Given the description of an element on the screen output the (x, y) to click on. 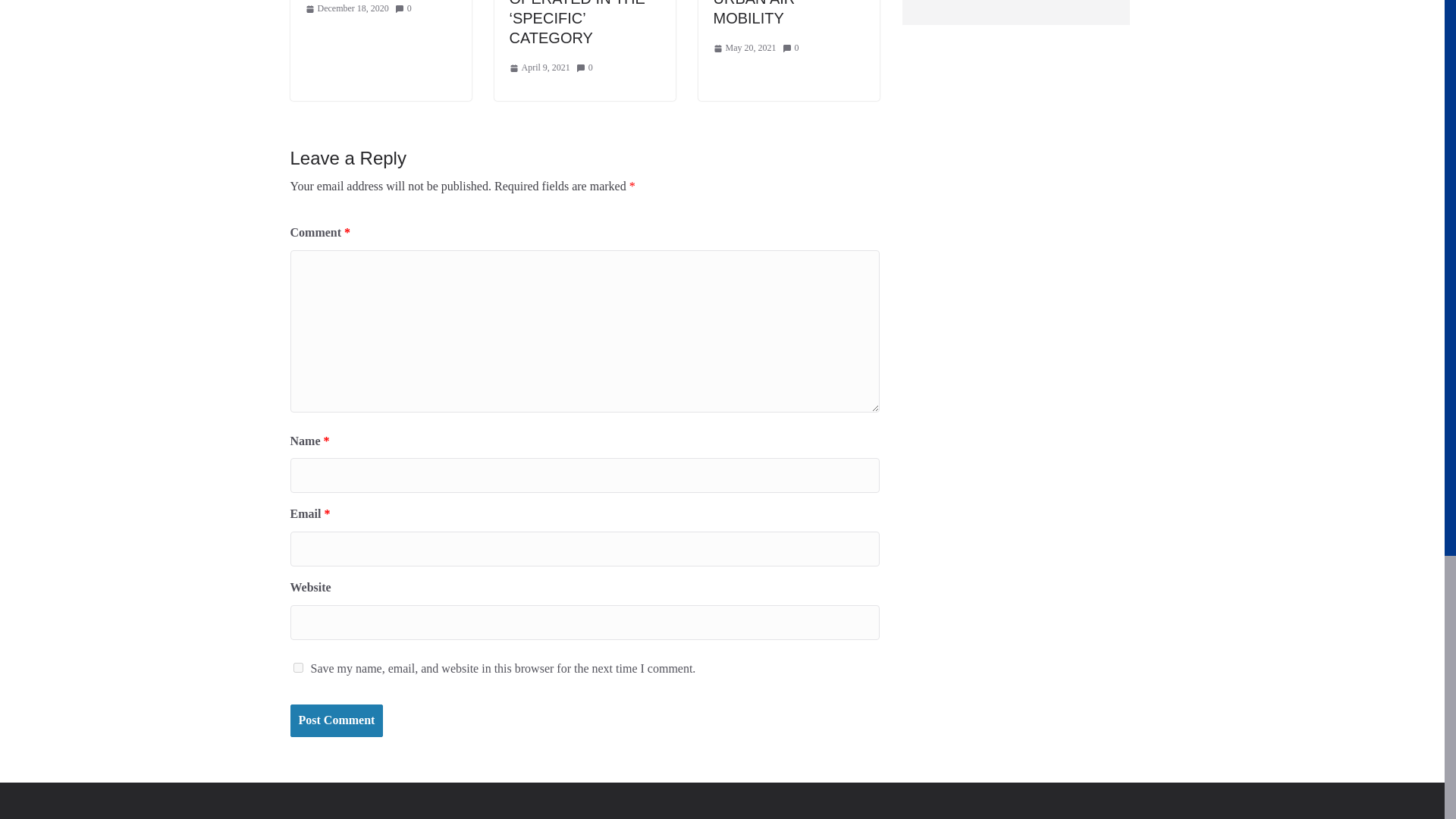
April 9, 2021 (539, 67)
Post Comment (335, 720)
yes (297, 667)
May 20, 2021 (744, 48)
09:18 (539, 67)
December 18, 2020 (346, 8)
10:03 (346, 8)
